Given the description of an element on the screen output the (x, y) to click on. 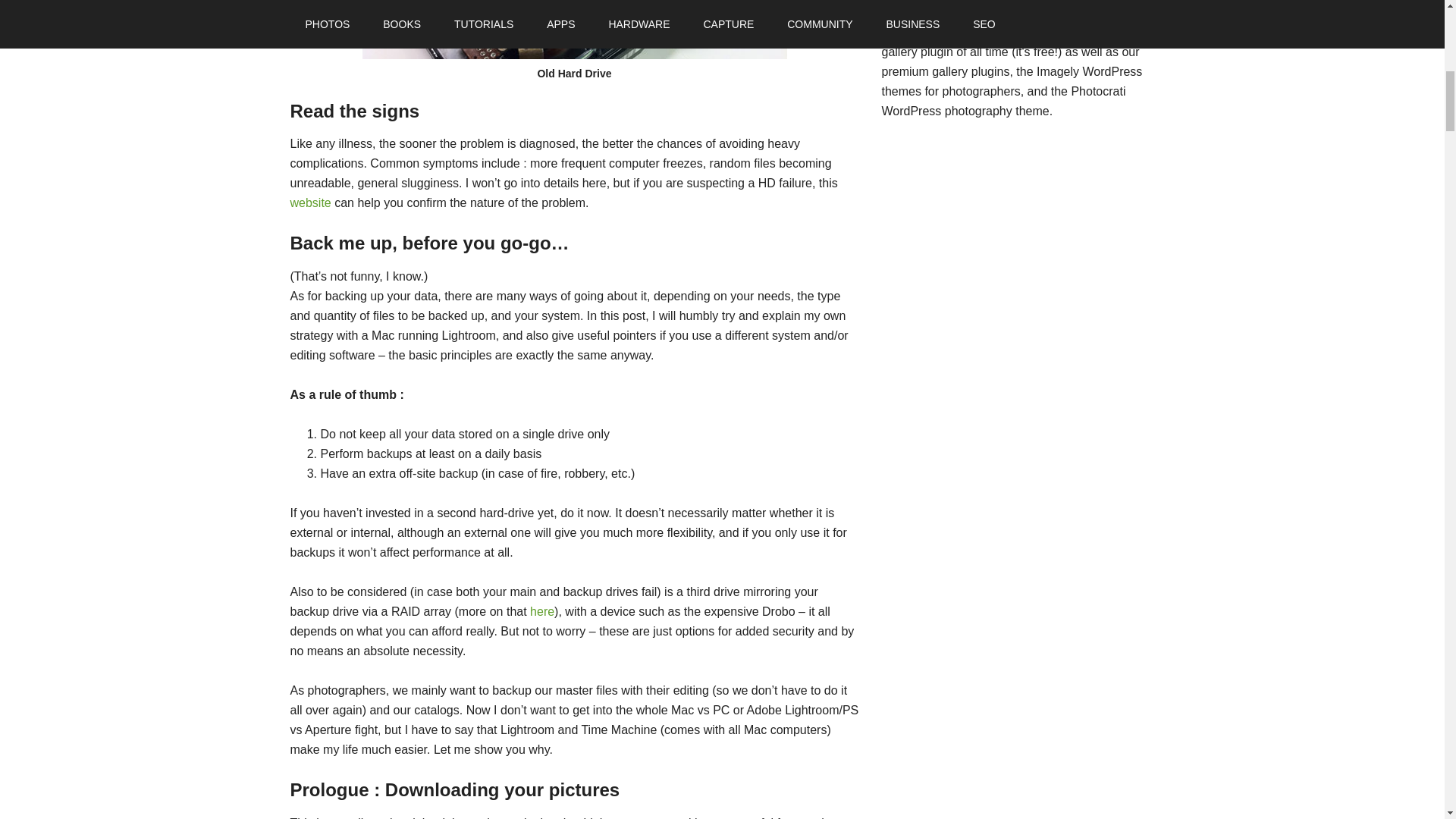
drive (574, 29)
here (541, 611)
website (309, 202)
